Given the description of an element on the screen output the (x, y) to click on. 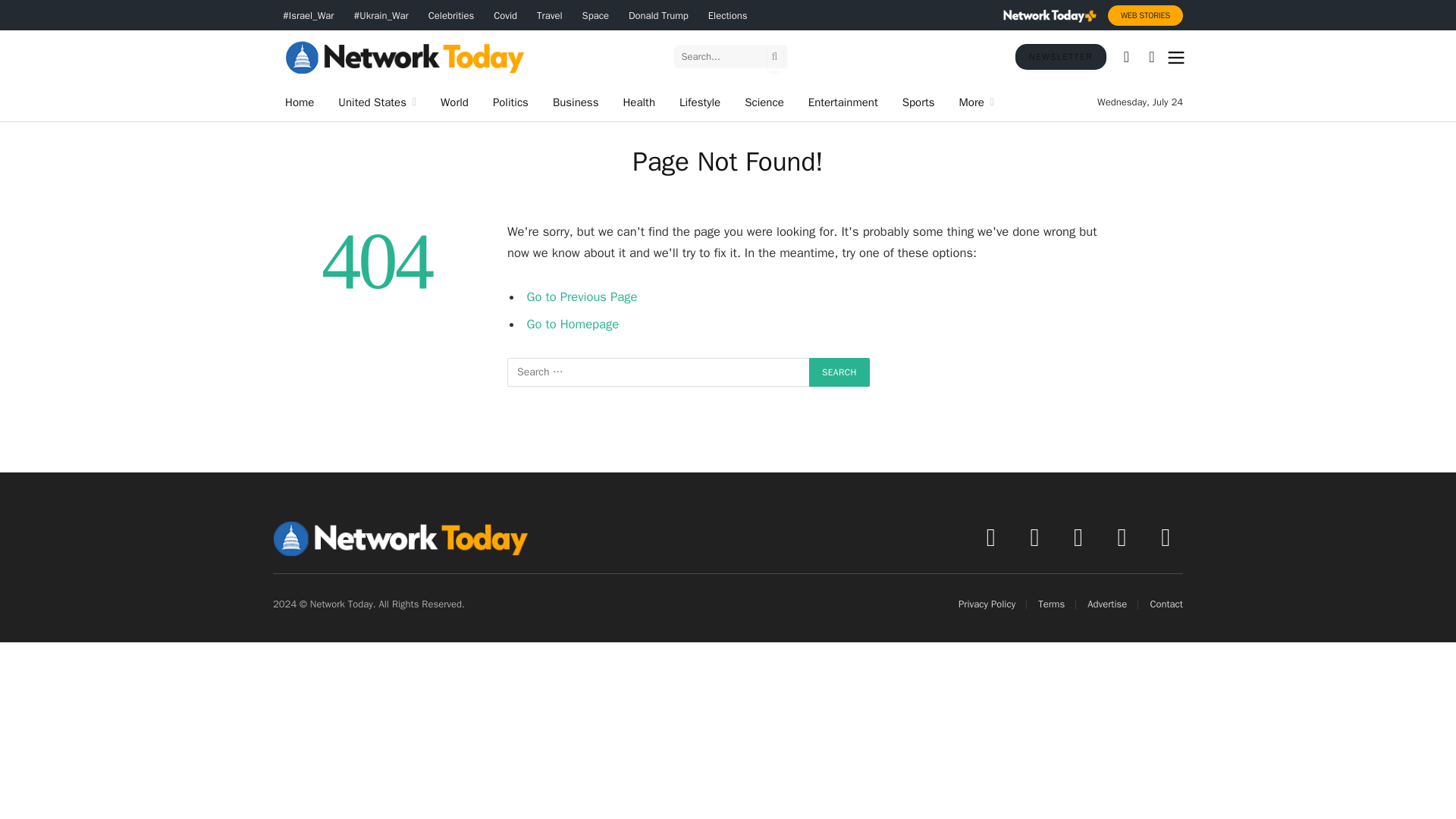
Elections (727, 15)
Search (839, 371)
Covid (505, 15)
NEWSLETTER (1060, 56)
Donald Trump (658, 15)
WEB STORIES (1145, 14)
Network Today (405, 56)
Celebrities (451, 15)
Search (839, 371)
Switch to Dark Design - easier on eyes. (1151, 56)
Space (595, 15)
Travel (549, 15)
